Given the description of an element on the screen output the (x, y) to click on. 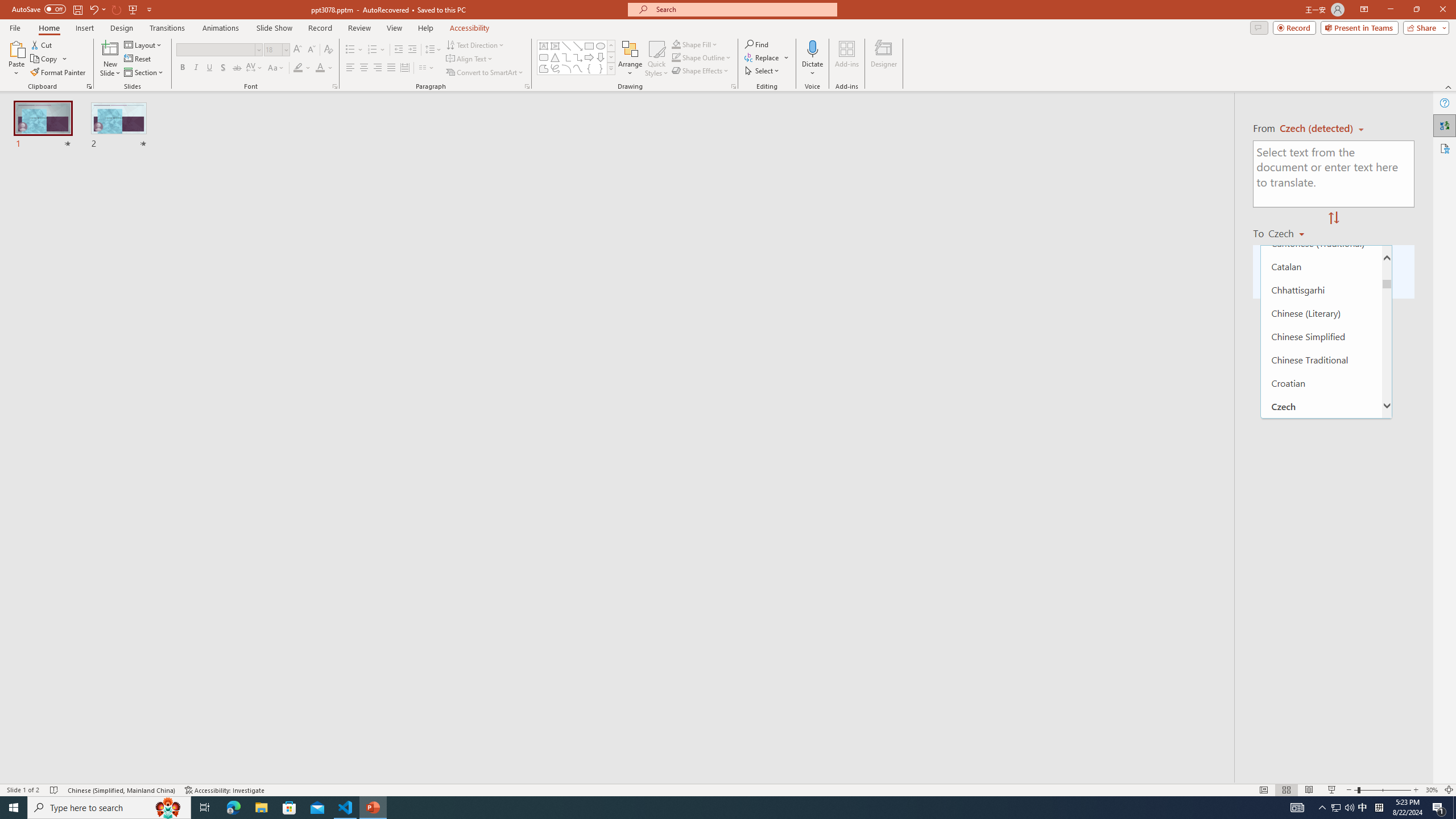
Fijian (1320, 615)
